Given the description of an element on the screen output the (x, y) to click on. 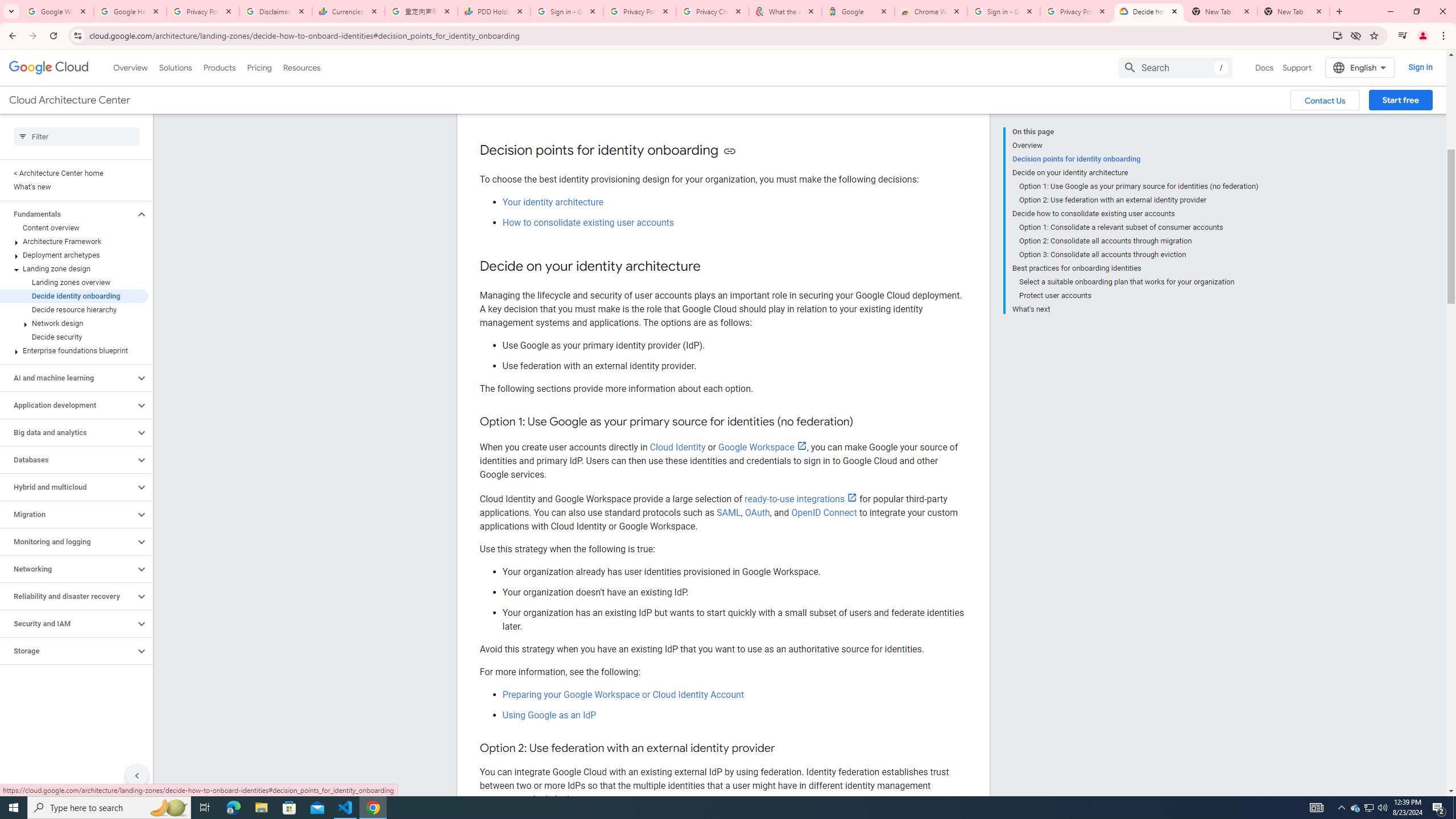
Hide side navigation (136, 775)
Cloud Architecture Center (68, 100)
Sign in - Google Accounts (1003, 11)
Solutions (175, 67)
Deployment archetypes (74, 255)
Option 2: Consolidate all accounts through migration (1138, 241)
Google Workspace (761, 447)
Google Cloud (48, 67)
English (1359, 67)
